Given the description of an element on the screen output the (x, y) to click on. 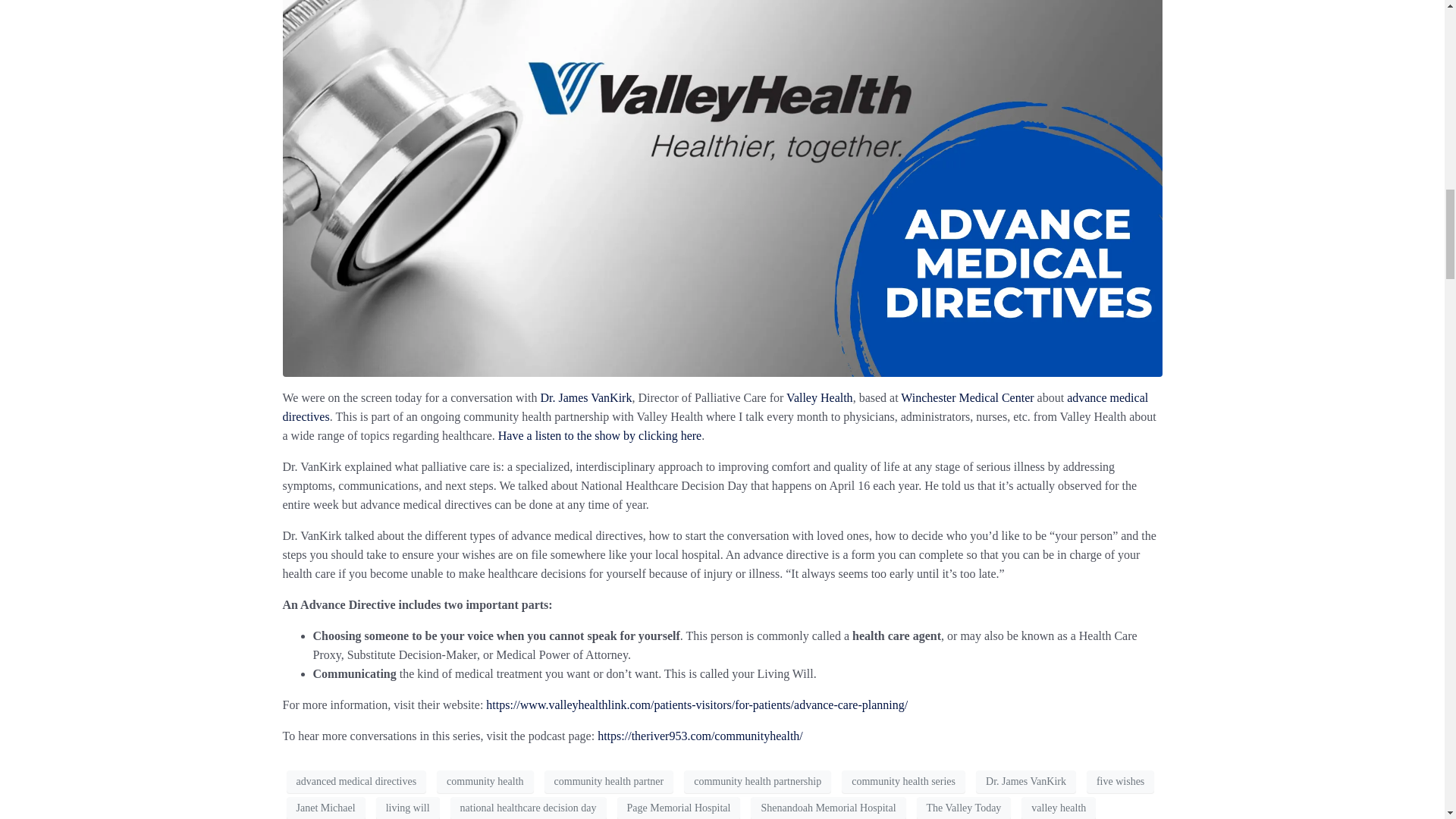
Community Health: Advance Medical Directives (721, 128)
